Given the description of an element on the screen output the (x, y) to click on. 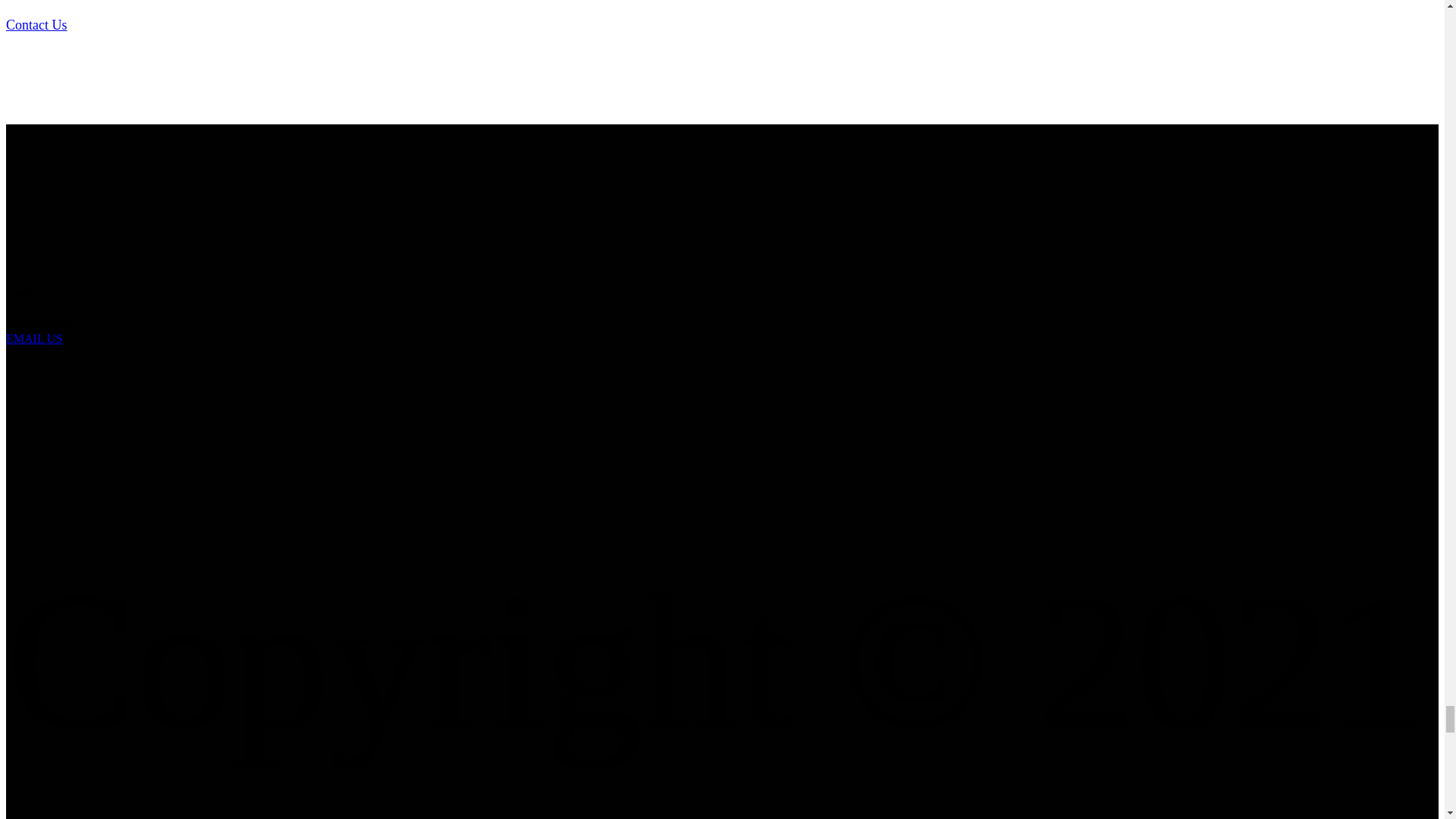
Contact Us (35, 24)
301-879-9811 (39, 323)
EMAIL US (33, 338)
